Given the description of an element on the screen output the (x, y) to click on. 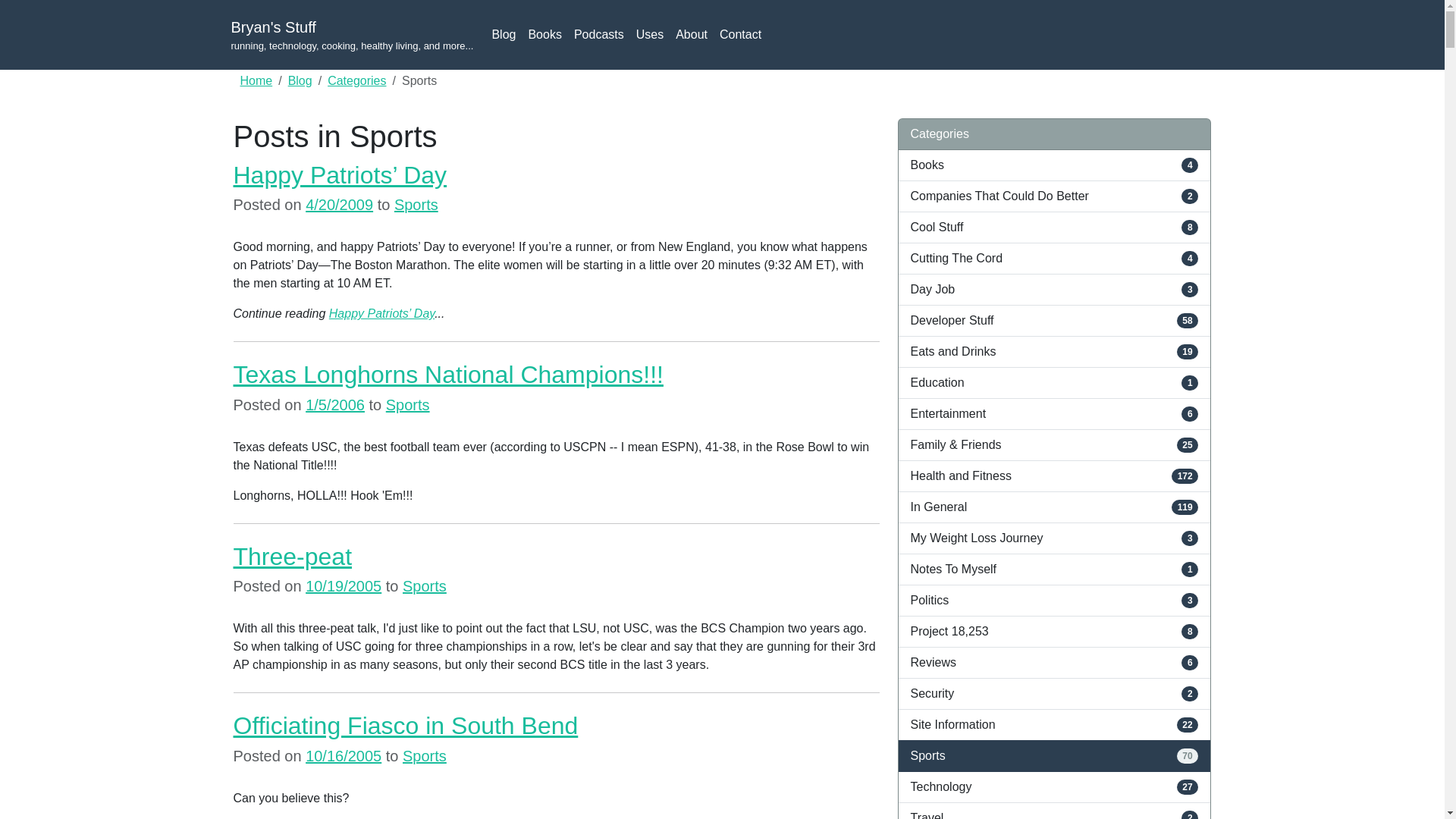
Uses (649, 34)
Blog (300, 80)
Categories (356, 80)
Podcasts (598, 34)
Sports (424, 755)
Books (544, 34)
About (691, 34)
Contact (740, 34)
Home (256, 80)
